Given the description of an element on the screen output the (x, y) to click on. 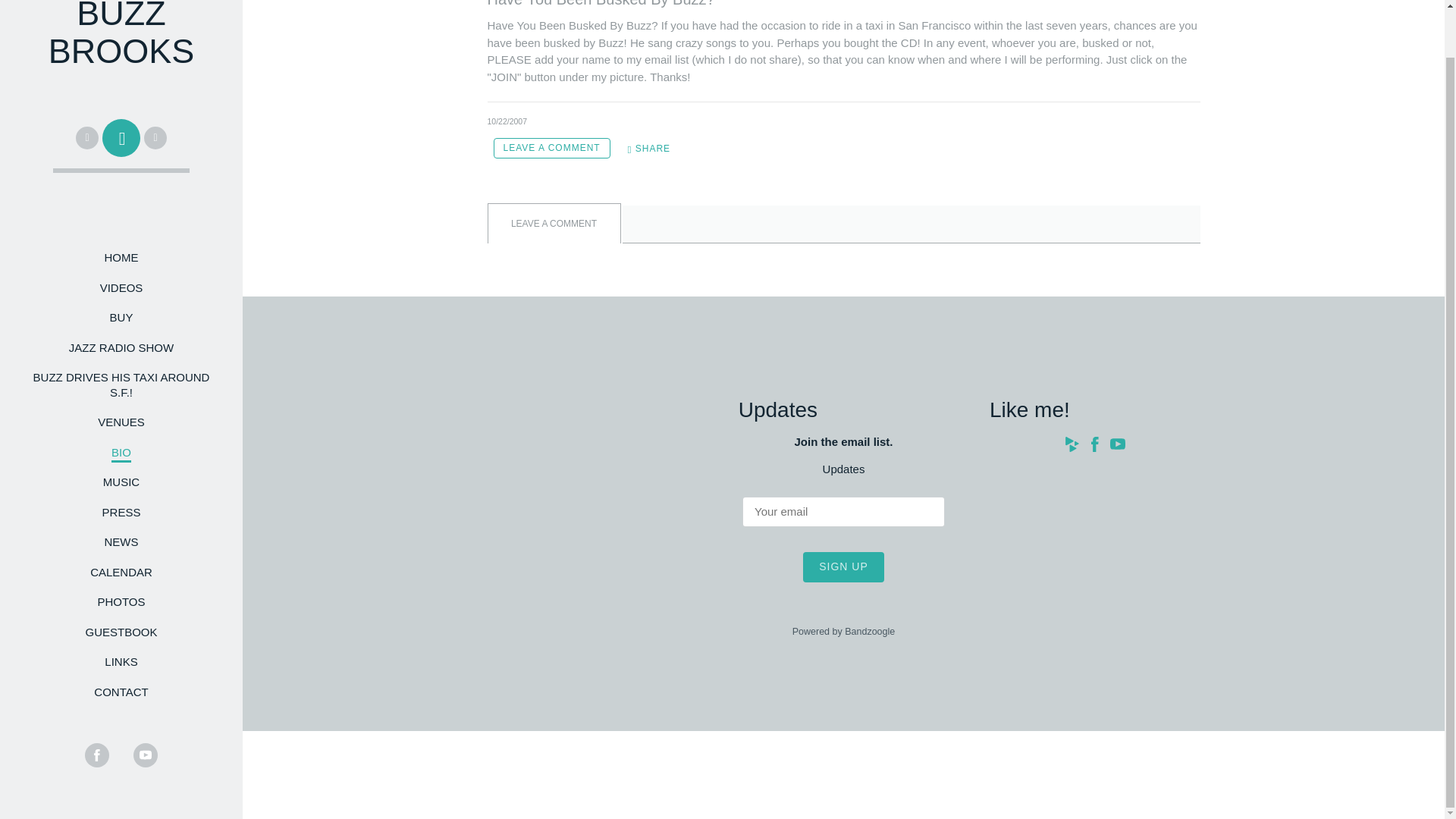
BUZZ BROOKS (120, 55)
